Given the description of an element on the screen output the (x, y) to click on. 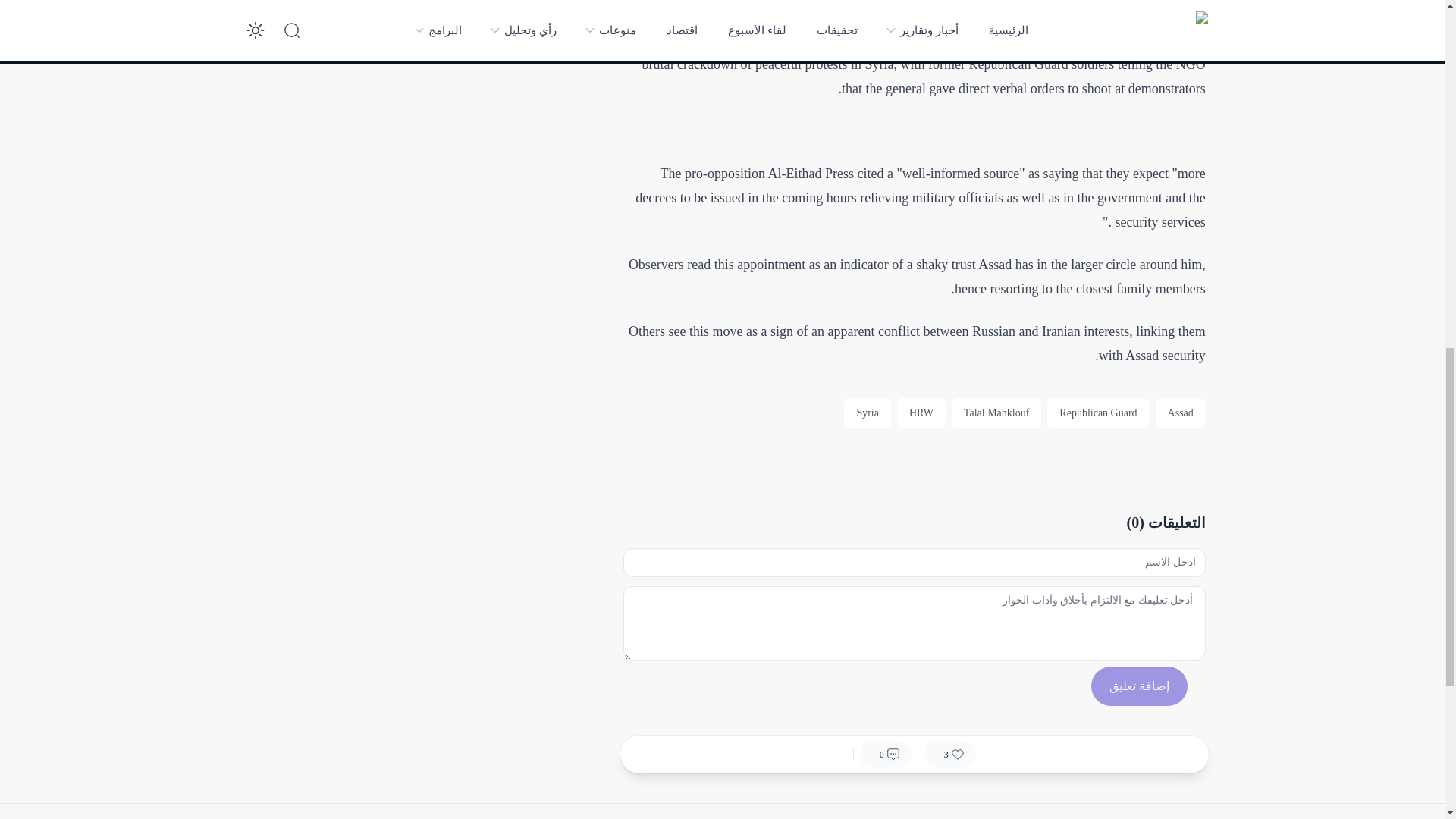
Republican Guard (1097, 413)
0 (885, 754)
Syria (867, 413)
HRW (920, 413)
Talal Mahklouf (997, 413)
Liked (949, 754)
3 (949, 754)
Comments (885, 754)
Assad (1180, 413)
